Given the description of an element on the screen output the (x, y) to click on. 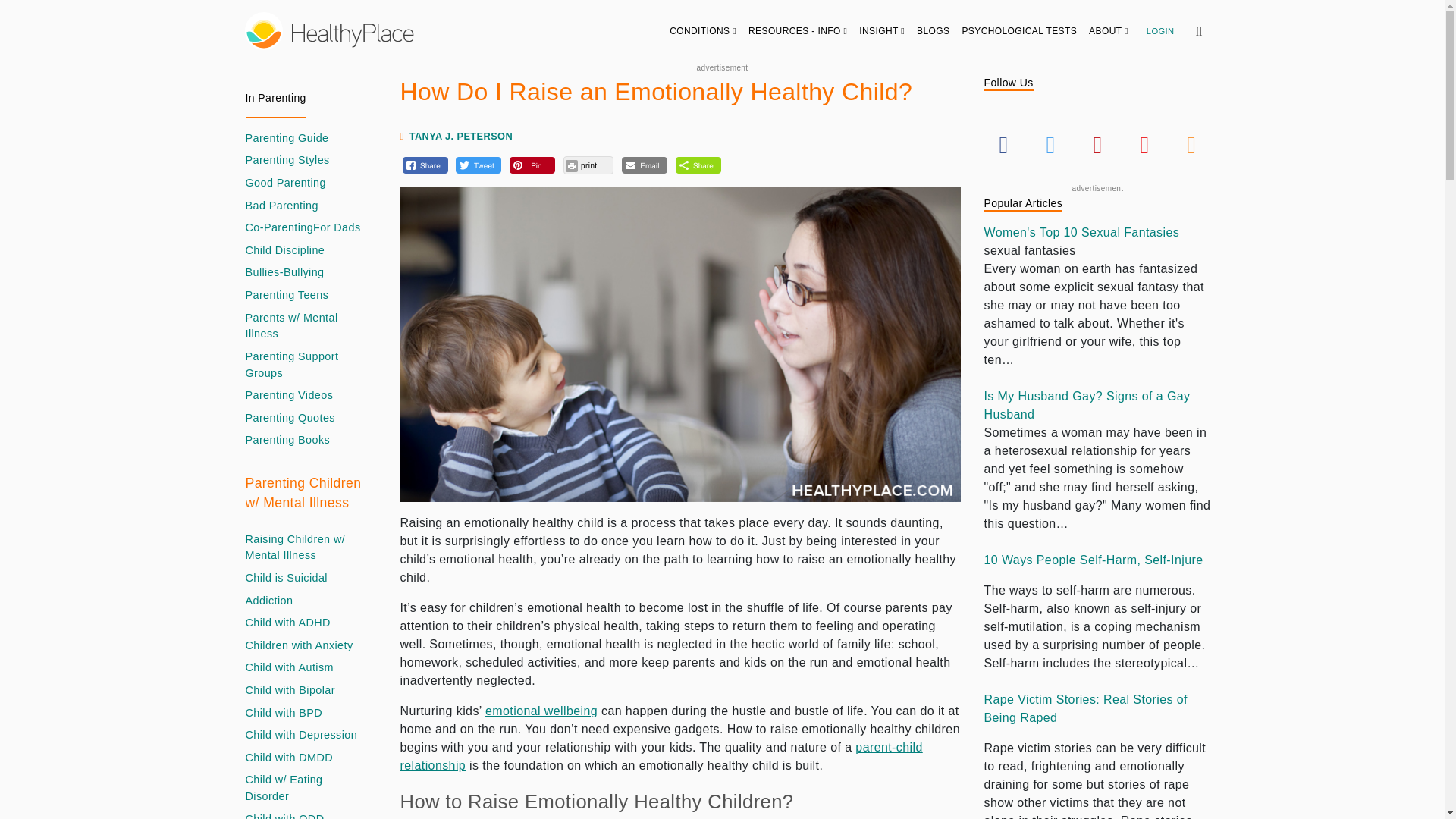
Is There a Perfect Parenting Guide? (287, 138)
Teen Emotions: 3 Ways for Parents to Deal with Them (287, 295)
Warning Signs of Drug and Alcohol Abuse (270, 600)
Is Your Child Contemplating Suicide? (286, 578)
What Does Bad Parenting Look Like? (282, 206)
Parenting A Bipolar Child (290, 690)
Must-Have Skills for Parenting Children with Anxiety (299, 646)
CONDITIONS (702, 31)
Parenting a Child with ADHD (288, 623)
